Given the description of an element on the screen output the (x, y) to click on. 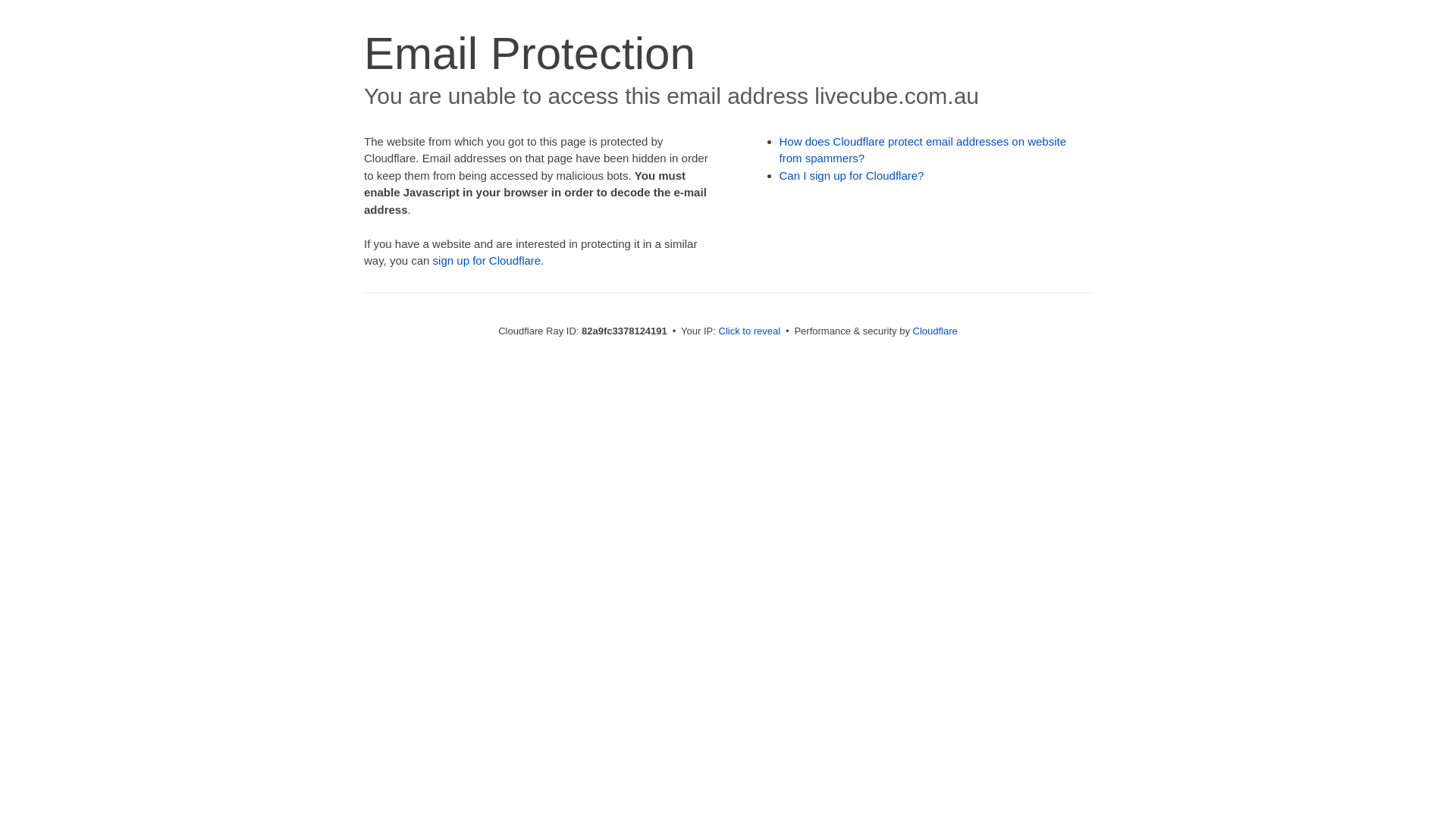
Cloudflare Element type: text (935, 330)
Click to reveal Element type: text (749, 330)
Can I sign up for Cloudflare? Element type: text (851, 175)
sign up for Cloudflare Element type: text (487, 260)
